Given the description of an element on the screen output the (x, y) to click on. 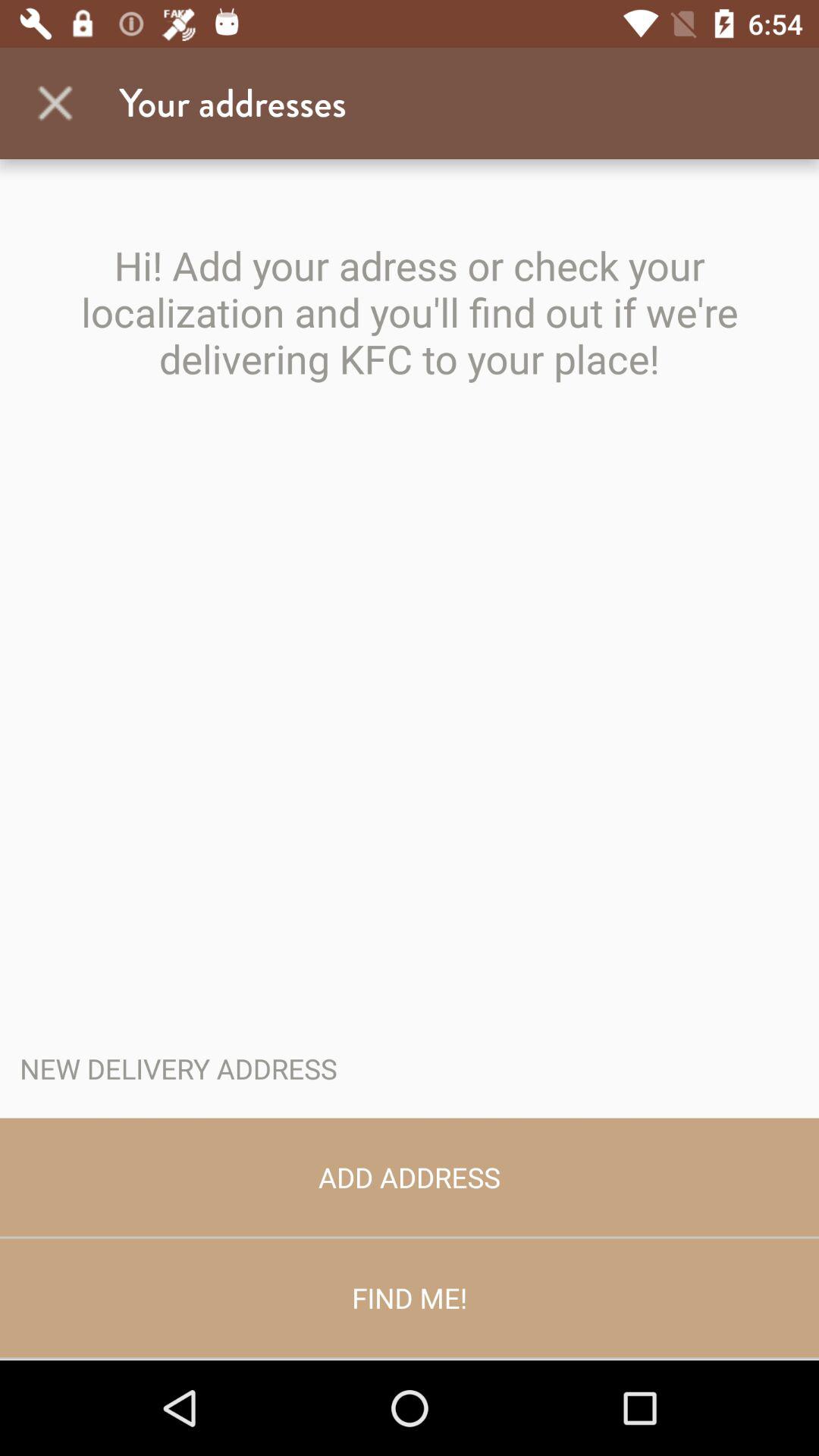
choose the icon above the hi add your (55, 103)
